Given the description of an element on the screen output the (x, y) to click on. 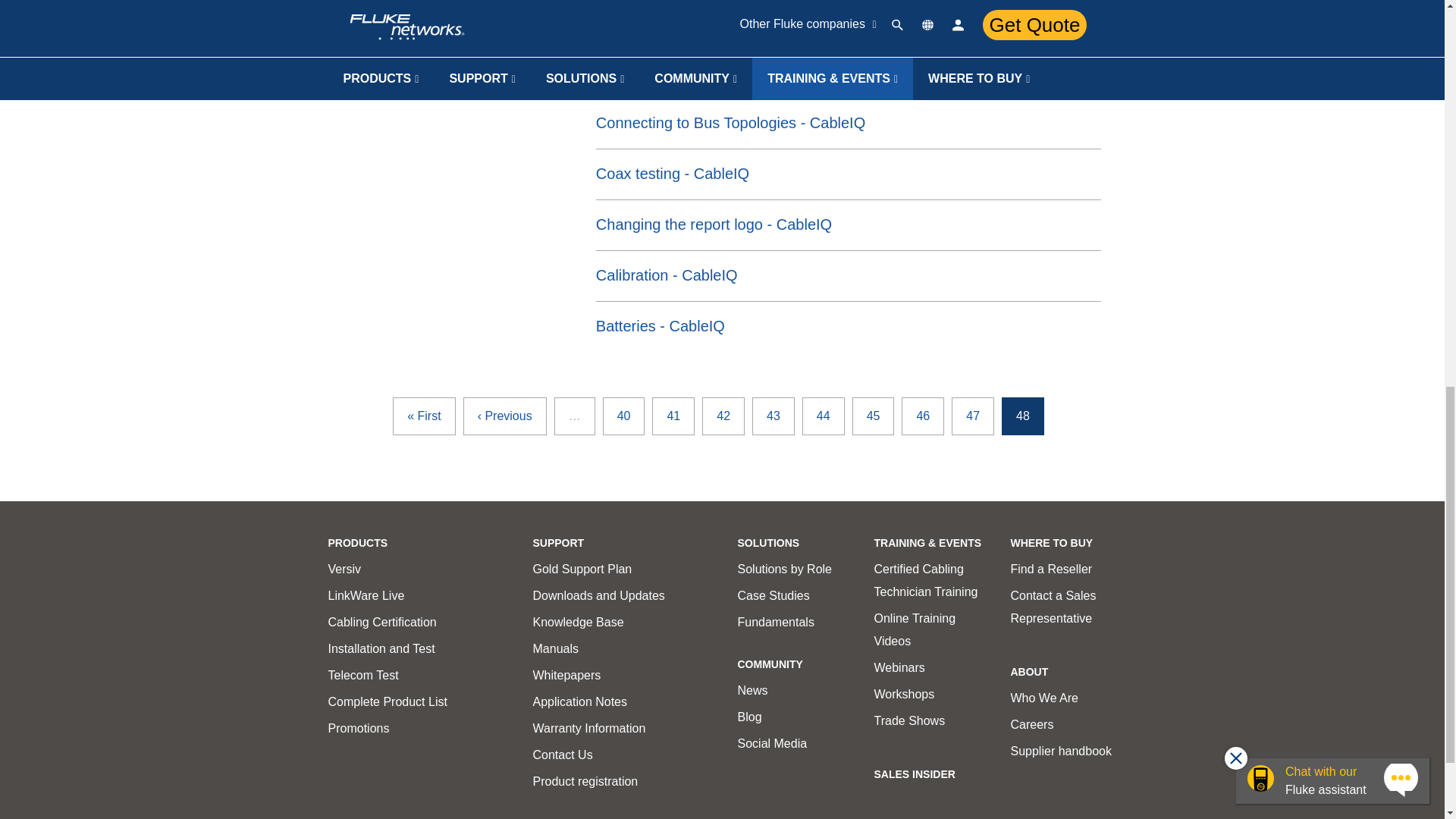
Go to page 42 (722, 415)
Go to page 46 (922, 415)
Go to page 41 (673, 415)
Go to page 47 (973, 415)
Go to page 40 (623, 415)
Go to page 43 (773, 415)
Go to page 44 (823, 415)
Go to page 45 (873, 415)
Go to previous page (505, 415)
Go to first page (423, 415)
